Given the description of an element on the screen output the (x, y) to click on. 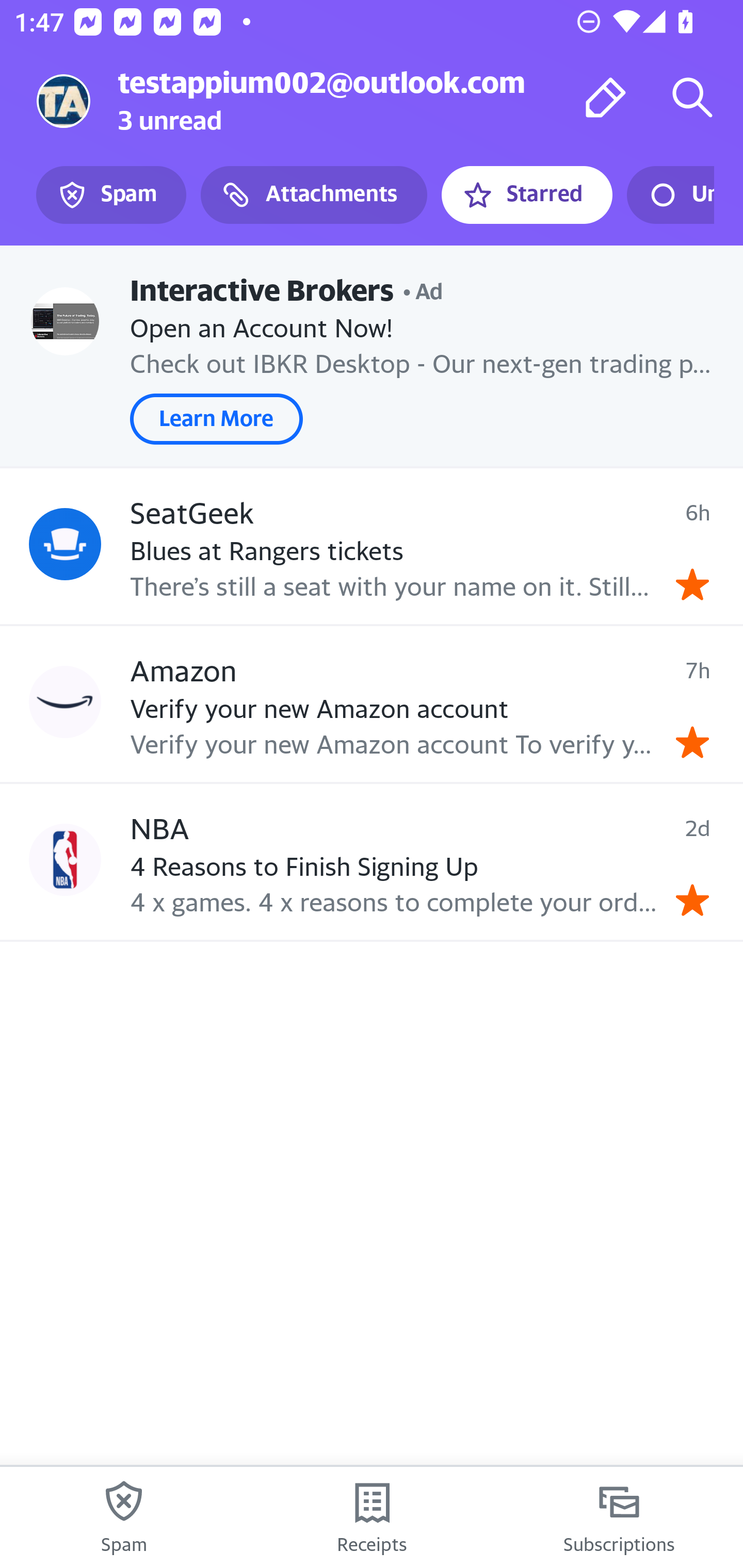
Compose (605, 97)
Search mail (692, 97)
Spam (111, 195)
Attachments (313, 195)
Profile
SeatGeek (64, 544)
Remove star. (692, 584)
Profile
Amazon (64, 702)
Remove star. (692, 742)
Profile
NBA (64, 859)
Remove star. (692, 899)
Spam (123, 1517)
Receipts (371, 1517)
Subscriptions (619, 1517)
